Given the description of an element on the screen output the (x, y) to click on. 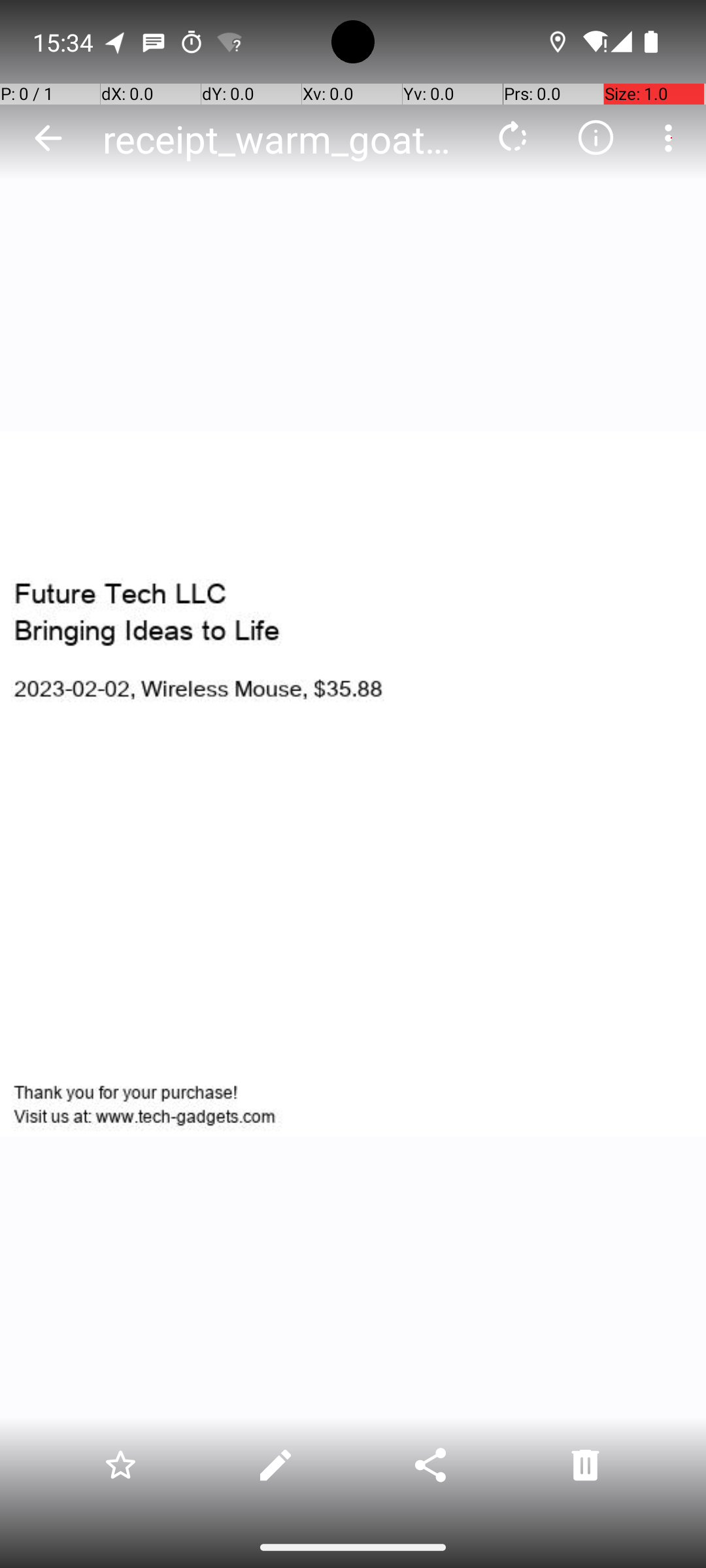
receipt_warm_goat_2023_03_07.jpg Element type: android.widget.TextView (283, 138)
Toggle favorite Element type: android.widget.ImageView (120, 1464)
